Given the description of an element on the screen output the (x, y) to click on. 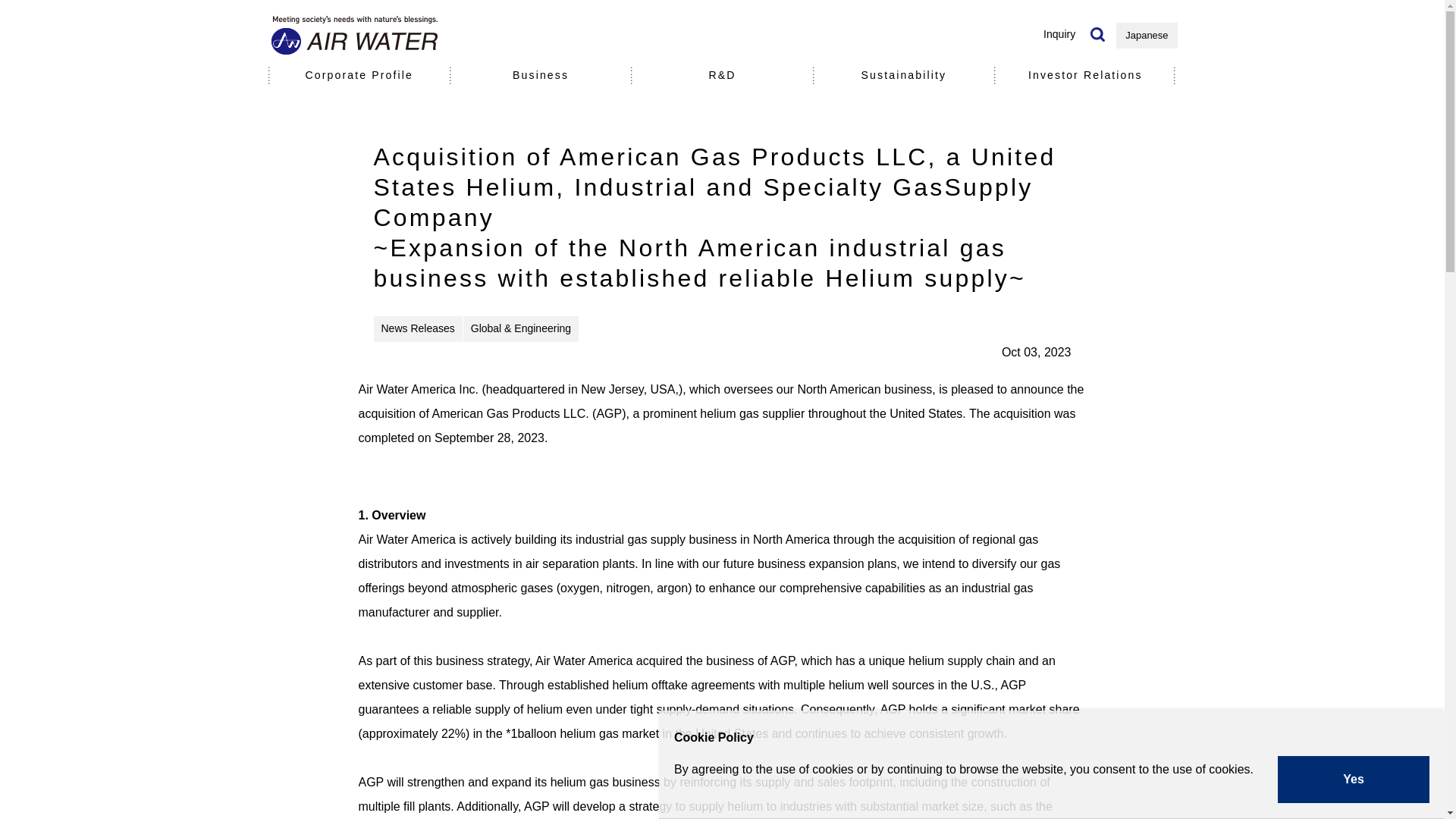
Business (540, 75)
Inquiry (1059, 33)
Corporate Profile (358, 75)
Japanese (1146, 35)
